Given the description of an element on the screen output the (x, y) to click on. 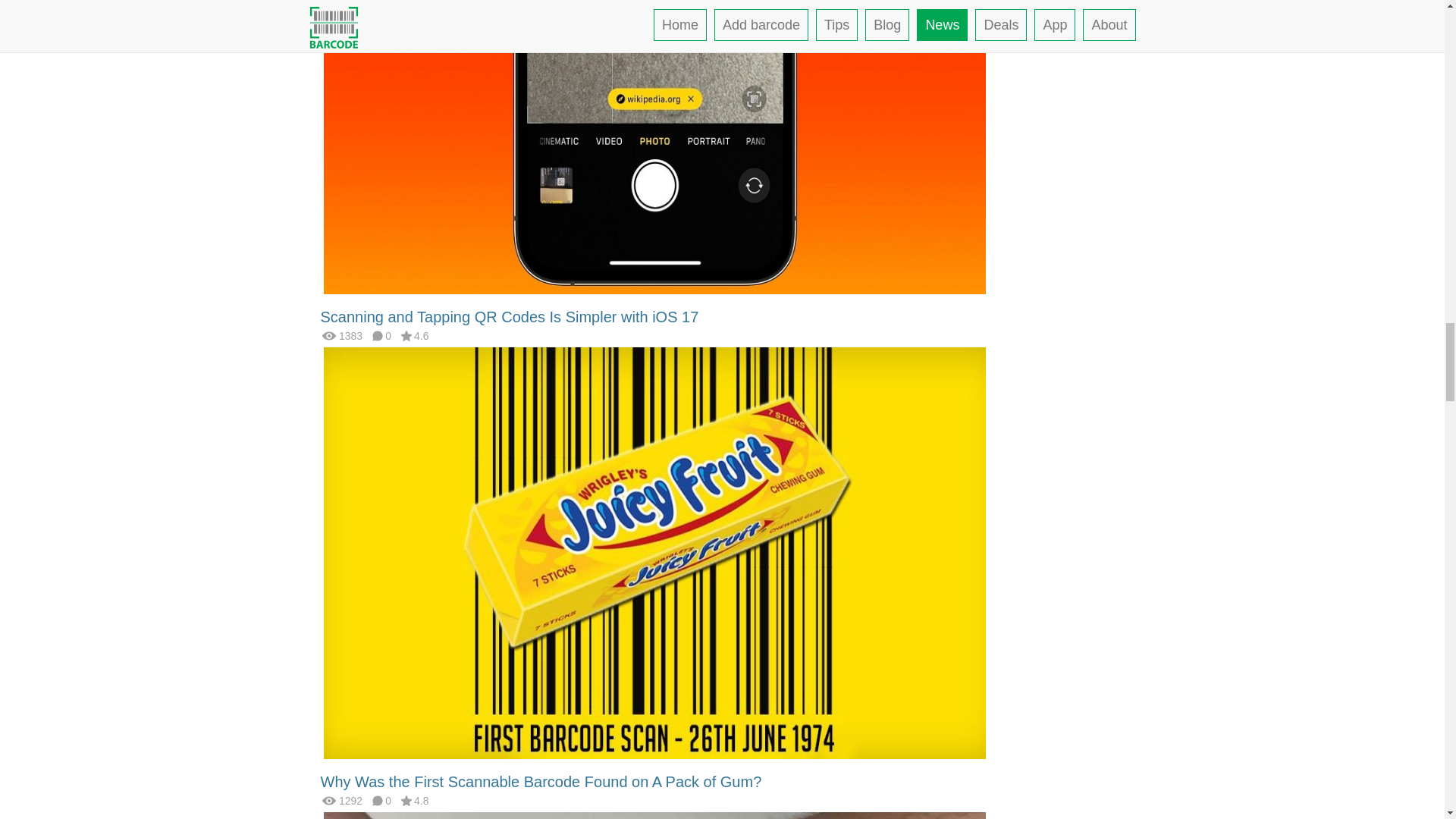
Why Was the First Scannable Barcode Found on A Pack of Gum? (540, 781)
Scanning and Tapping QR Codes Is Simpler with iOS 17 (654, 87)
Scanning and Tapping QR Codes Is Simpler with iOS 17 (509, 316)
Scanning and Tapping QR Codes Is Simpler with iOS 17 (509, 316)
Why Was the First Scannable Barcode Found on A Pack of Gum? (654, 551)
Why Was the First Scannable Barcode Found on A Pack of Gum? (540, 781)
